Given the description of an element on the screen output the (x, y) to click on. 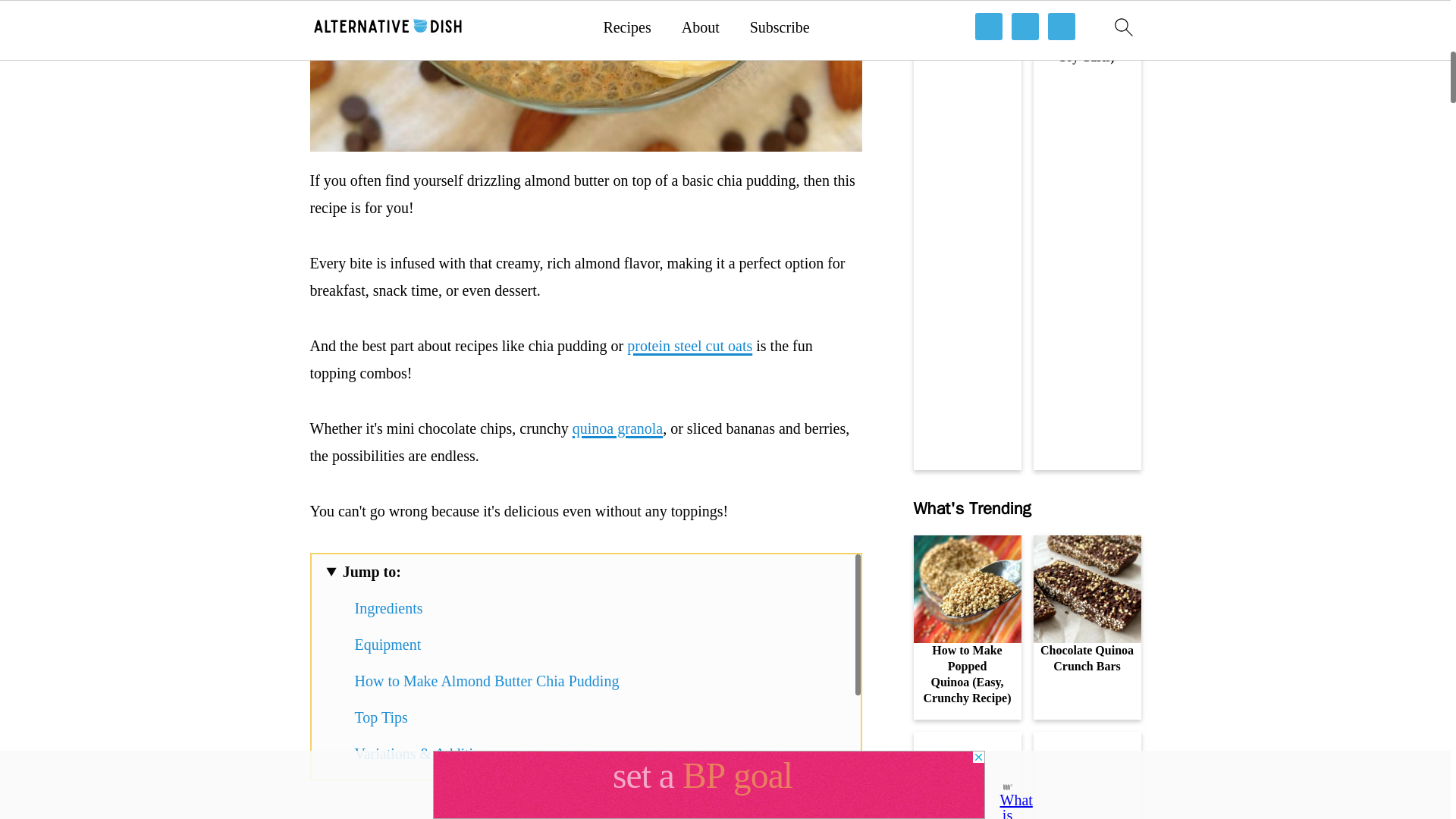
Ingredients (389, 607)
protein steel cut oats (689, 345)
quinoa granola (617, 428)
